Given the description of an element on the screen output the (x, y) to click on. 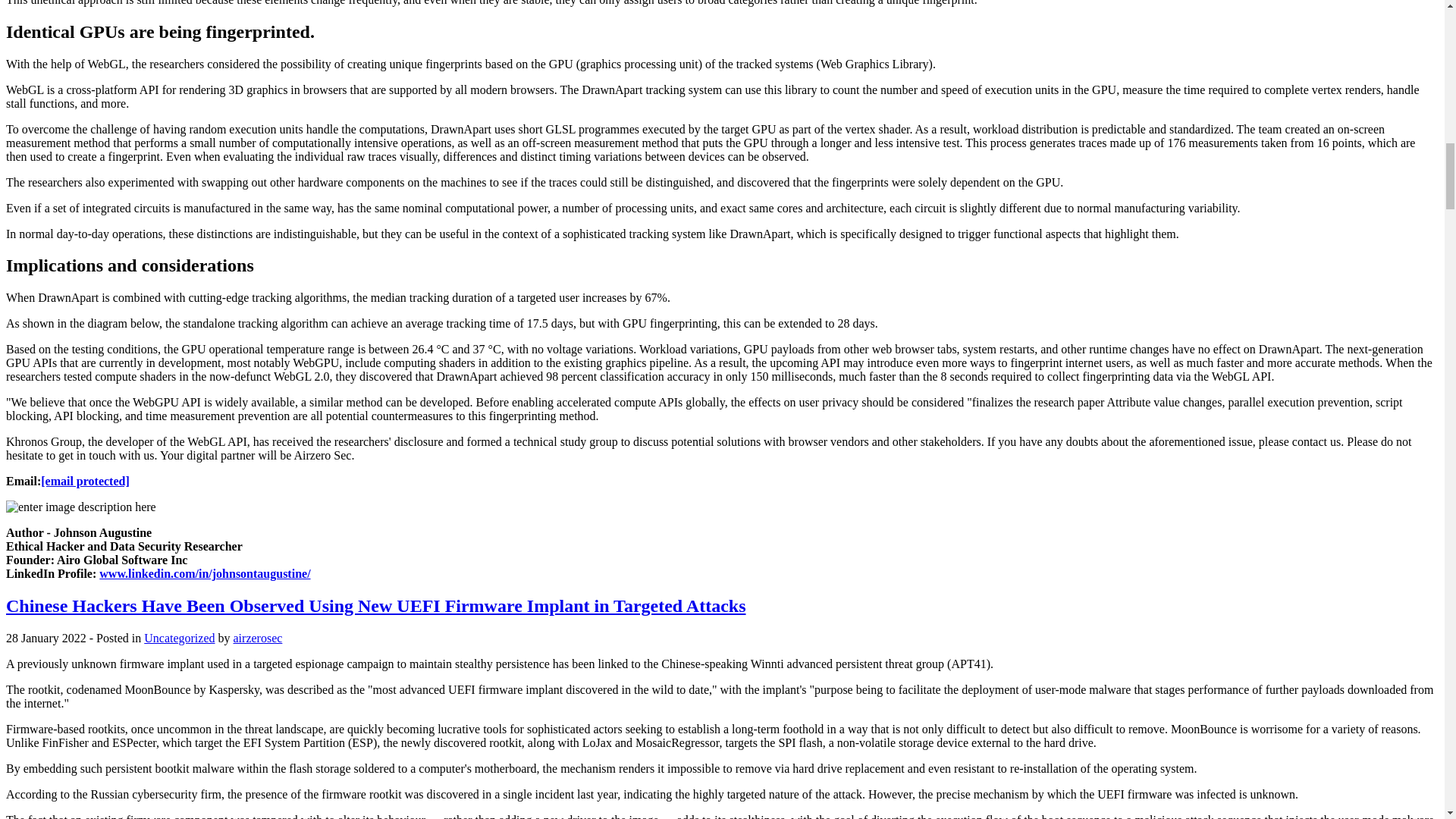
airzerosec (257, 637)
Uncategorized (179, 637)
